Given the description of an element on the screen output the (x, y) to click on. 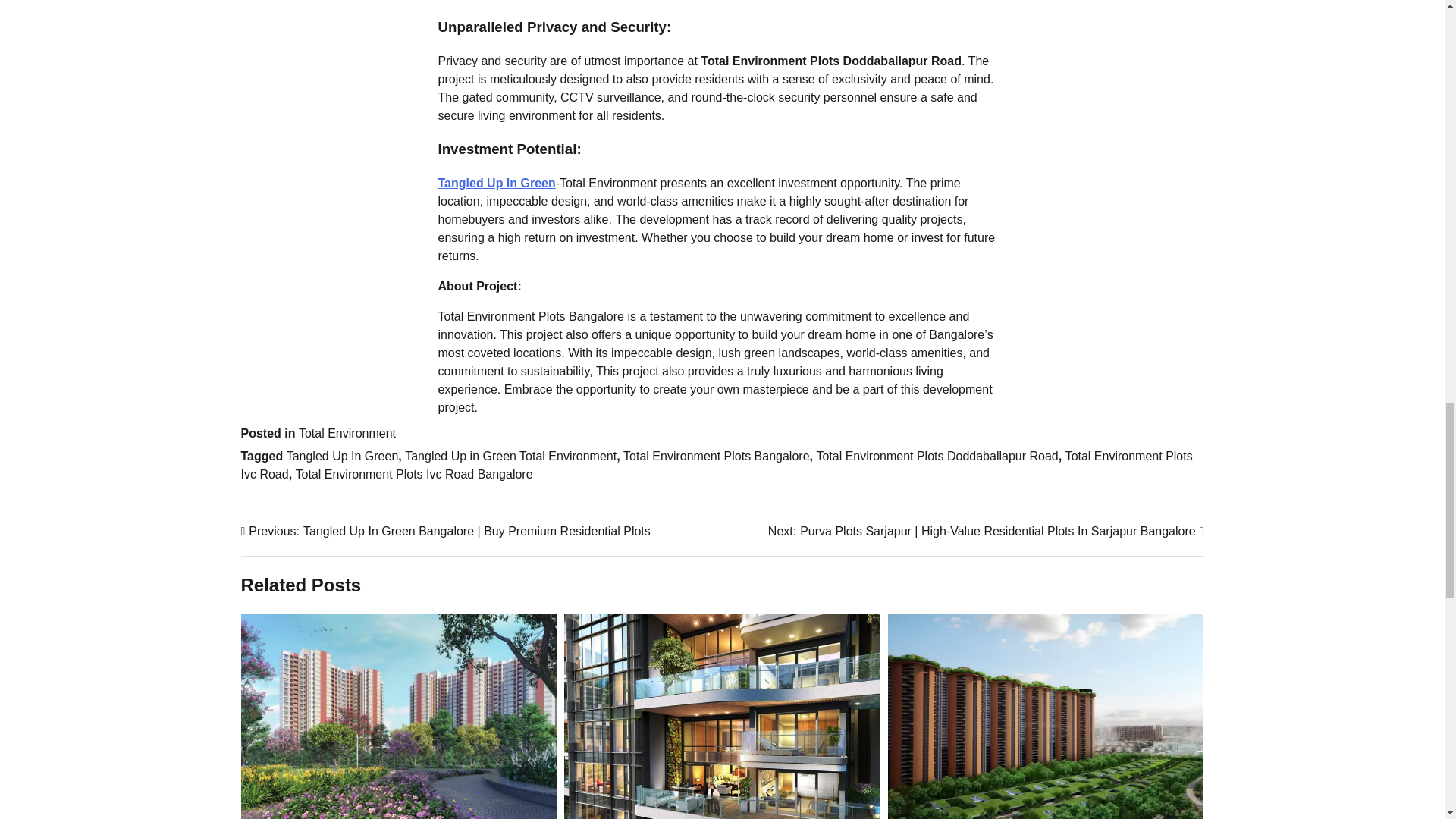
Tangled Up In Green (342, 455)
Total Environment Plots Ivc Road Bangalore (413, 473)
Total Environment (347, 432)
Total Environment Plots Ivc Road (716, 464)
Tangled Up in Green Total Environment (509, 455)
Total Environment Plots Bangalore (716, 455)
Total Environment Plots Doddaballapur Road (936, 455)
